Given the description of an element on the screen output the (x, y) to click on. 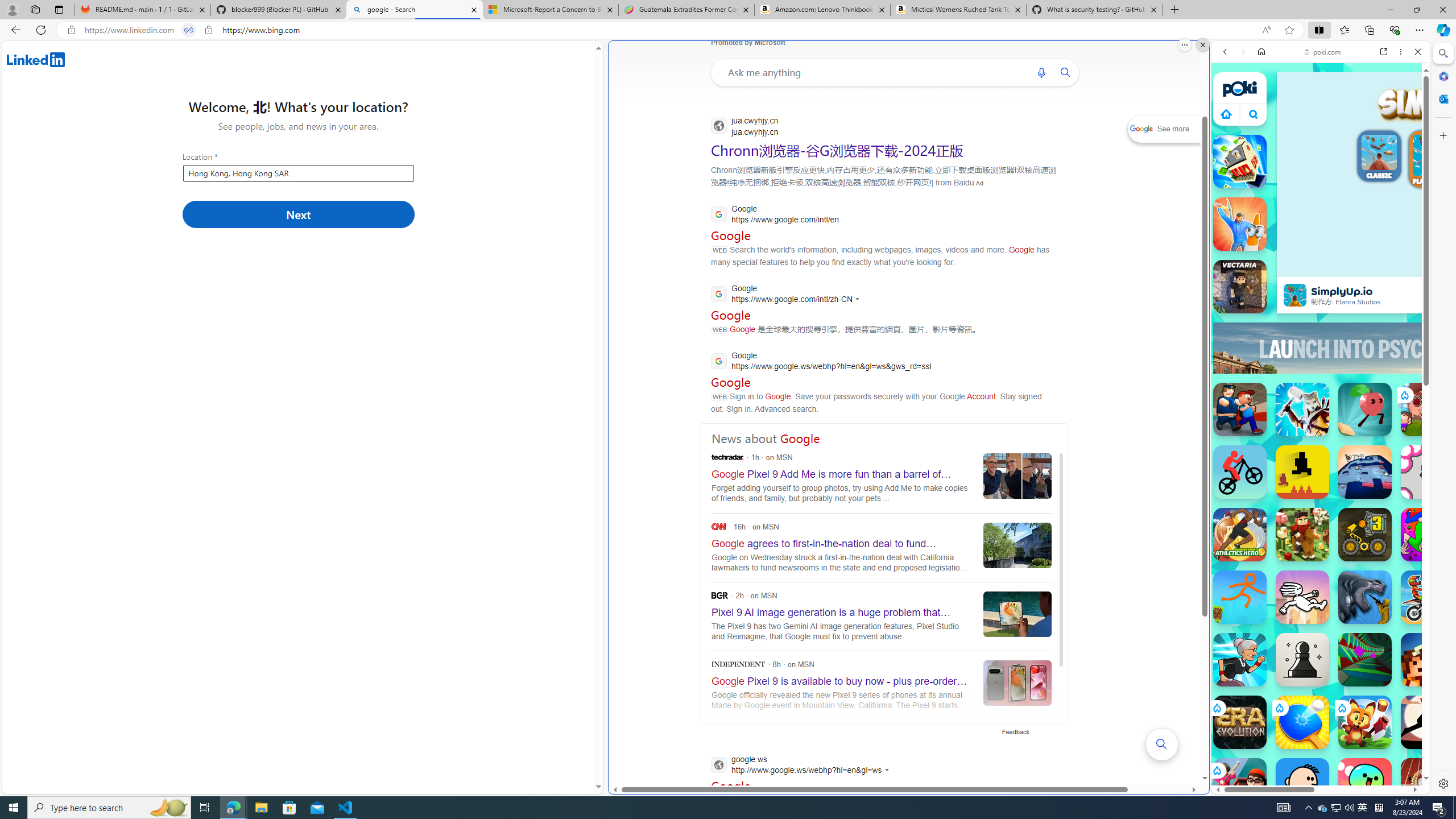
Shooting Games (1320, 295)
Sharkosaurus Rampage Sharkosaurus Rampage (1364, 597)
Into the Pit Into the Pit (1427, 471)
